Given the description of an element on the screen output the (x, y) to click on. 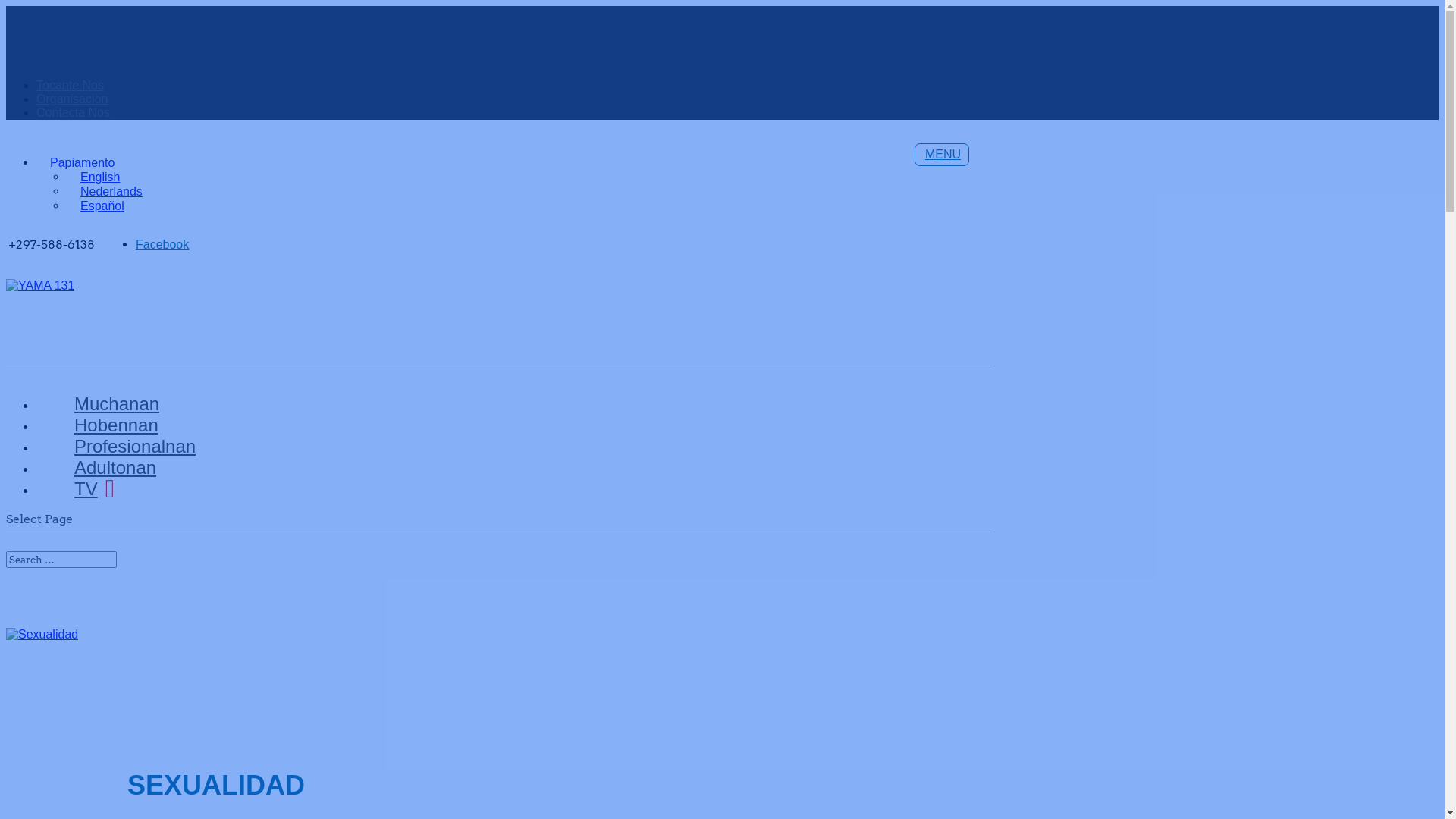
Papiamento Element type: text (75, 162)
Facebook Element type: text (161, 244)
Organisacion Element type: text (71, 98)
Nederlands Element type: text (104, 191)
MENU Element type: text (941, 154)
Contacta Nos Element type: text (72, 112)
English Element type: text (92, 176)
Hobennan Element type: text (116, 430)
Muchanan Element type: text (116, 409)
Adultonan Element type: text (115, 473)
Sexualidad Element type: hover (42, 633)
Profesionalnan Element type: text (134, 452)
TV Element type: text (94, 494)
Tocante Nos Element type: text (69, 84)
Sexualidad Element type: hover (42, 634)
Search for: Element type: hover (61, 559)
